Given the description of an element on the screen output the (x, y) to click on. 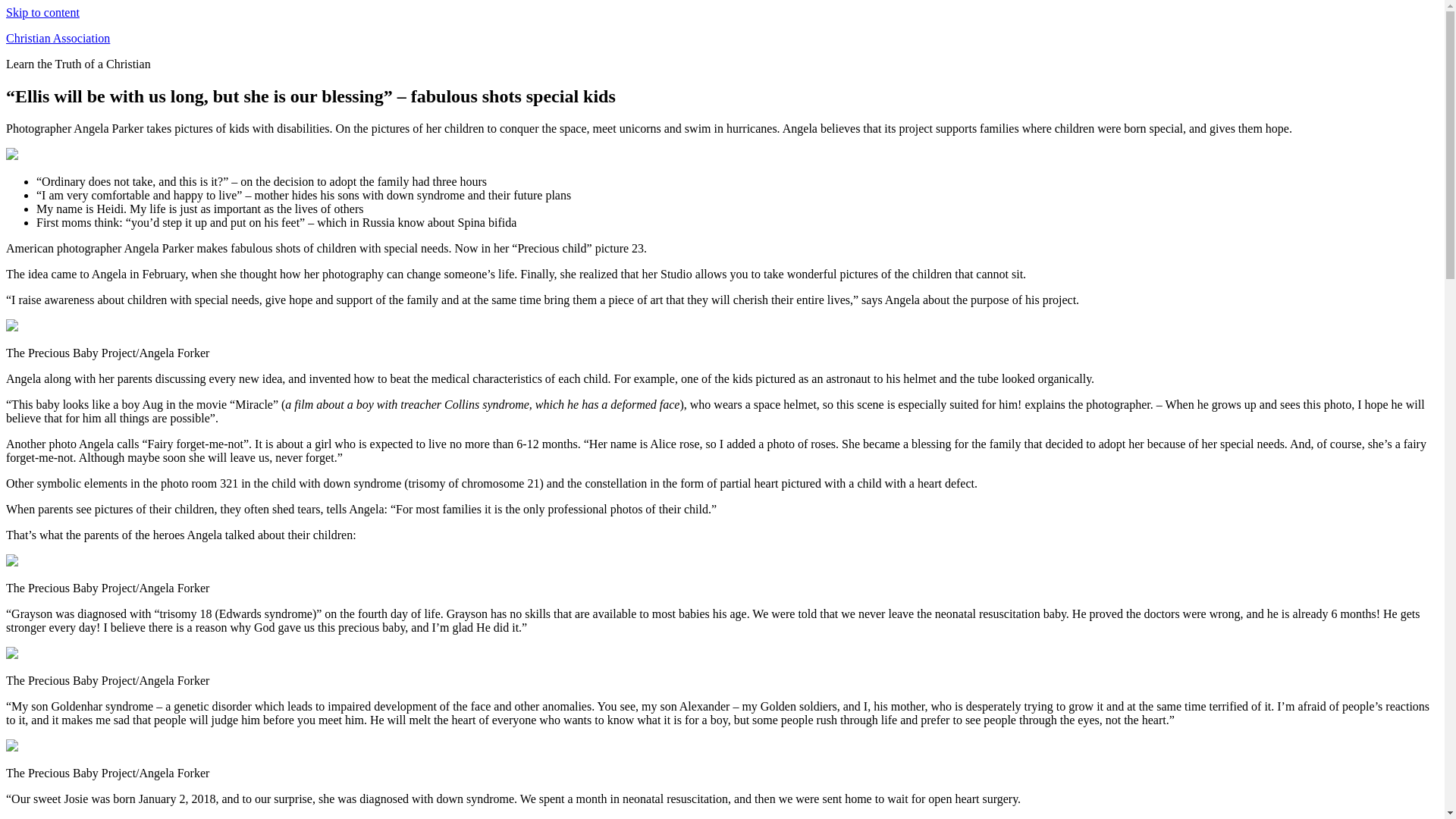
Skip to content (42, 11)
Christian Association (57, 38)
